Given the description of an element on the screen output the (x, y) to click on. 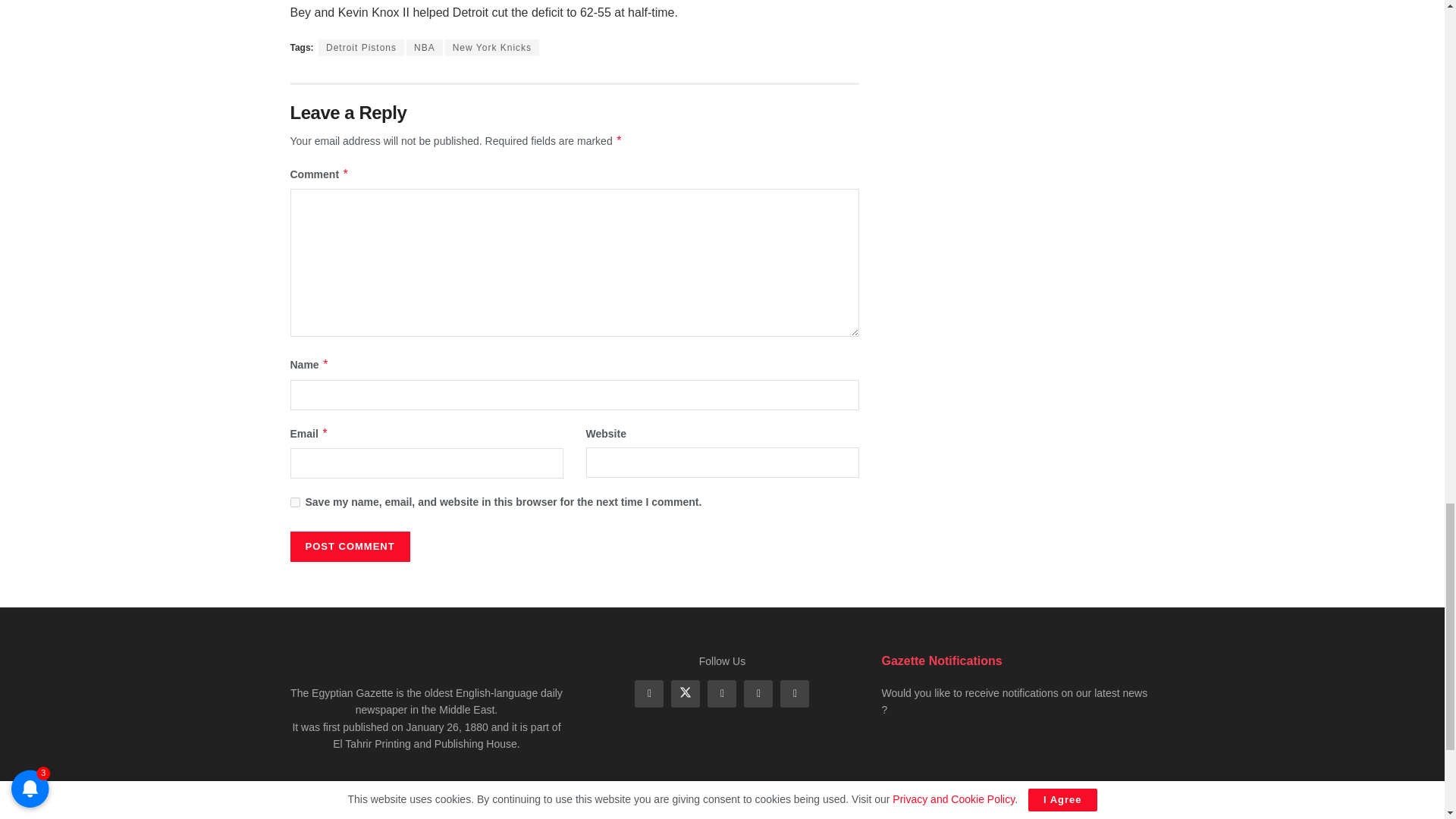
yes (294, 501)
Post Comment (349, 546)
